Given the description of an element on the screen output the (x, y) to click on. 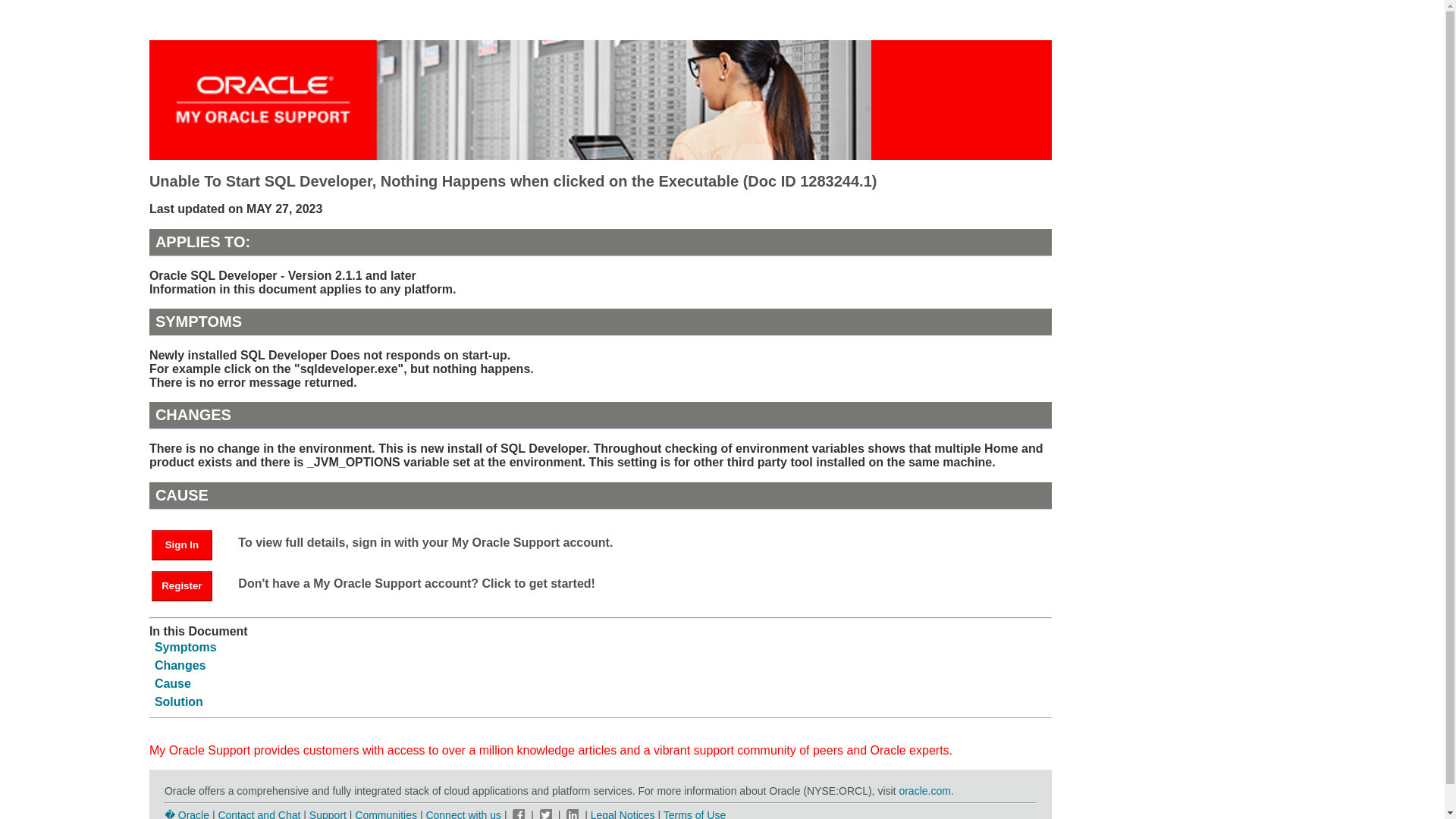
Cause (172, 683)
oracle.com (924, 790)
Communities (385, 814)
Register (189, 584)
Solution (178, 701)
Changes (180, 665)
oracle.com (924, 790)
Sign In (189, 543)
Terms of Use (694, 814)
Contact and Chat (257, 814)
Register (181, 585)
Support (327, 814)
Sign In (181, 544)
Legal Notices (623, 814)
Connect with us (464, 814)
